Given the description of an element on the screen output the (x, y) to click on. 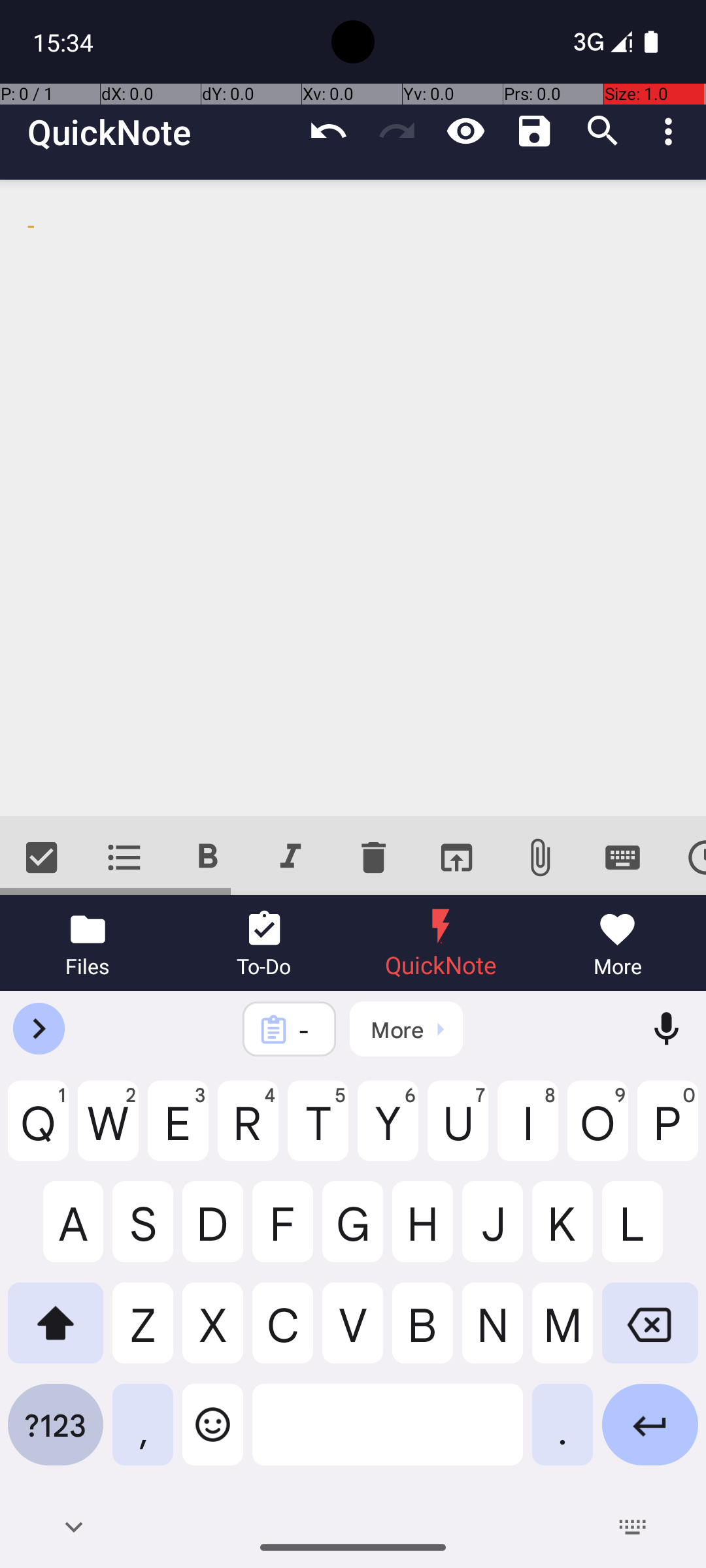
-  Element type: android.widget.EditText (353, 497)
Q Element type: android.widget.FrameLayout (38, 1130)
E Element type: android.widget.FrameLayout (178, 1130)
R Element type: android.widget.FrameLayout (248, 1130)
Y Element type: android.widget.FrameLayout (387, 1130)
U Element type: android.widget.FrameLayout (457, 1130)
I Element type: android.widget.FrameLayout (527, 1130)
O Element type: android.widget.FrameLayout (597, 1130)
P Element type: android.widget.FrameLayout (667, 1130)
A Element type: android.widget.FrameLayout (55, 1231)
D Element type: android.widget.FrameLayout (212, 1231)
G Element type: android.widget.FrameLayout (352, 1231)
H Element type: android.widget.FrameLayout (422, 1231)
J Element type: android.widget.FrameLayout (492, 1231)
K Element type: android.widget.FrameLayout (562, 1231)
L Element type: android.widget.FrameLayout (649, 1231)
Z Element type: android.widget.FrameLayout (142, 1332)
X Element type: android.widget.FrameLayout (212, 1332)
C Element type: android.widget.FrameLayout (282, 1332)
V Element type: android.widget.FrameLayout (352, 1332)
B Element type: android.widget.FrameLayout (422, 1332)
N Element type: android.widget.FrameLayout (492, 1332)
